Given the description of an element on the screen output the (x, y) to click on. 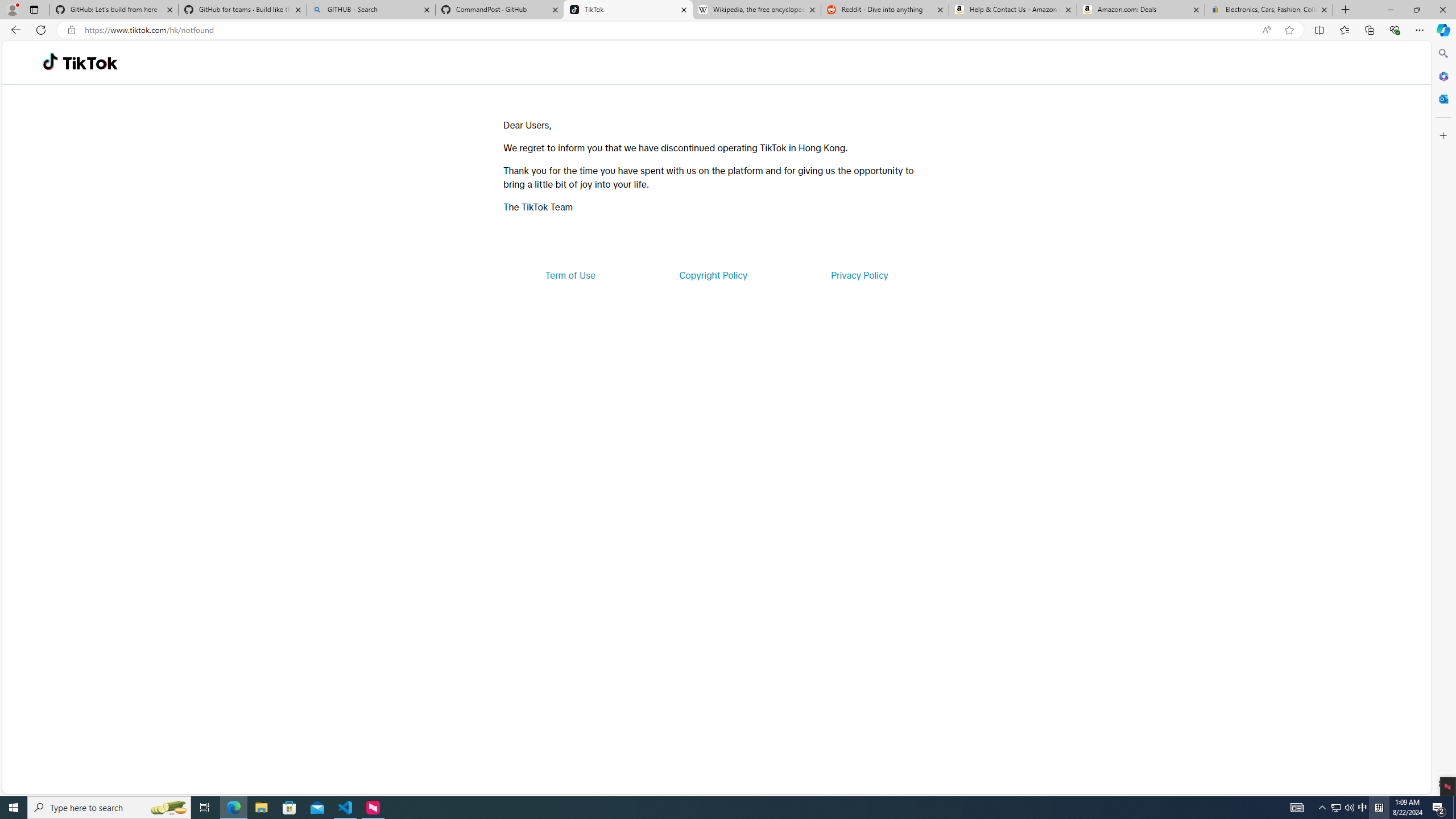
Term of Use (569, 274)
Privacy Policy (858, 274)
